Given the description of an element on the screen output the (x, y) to click on. 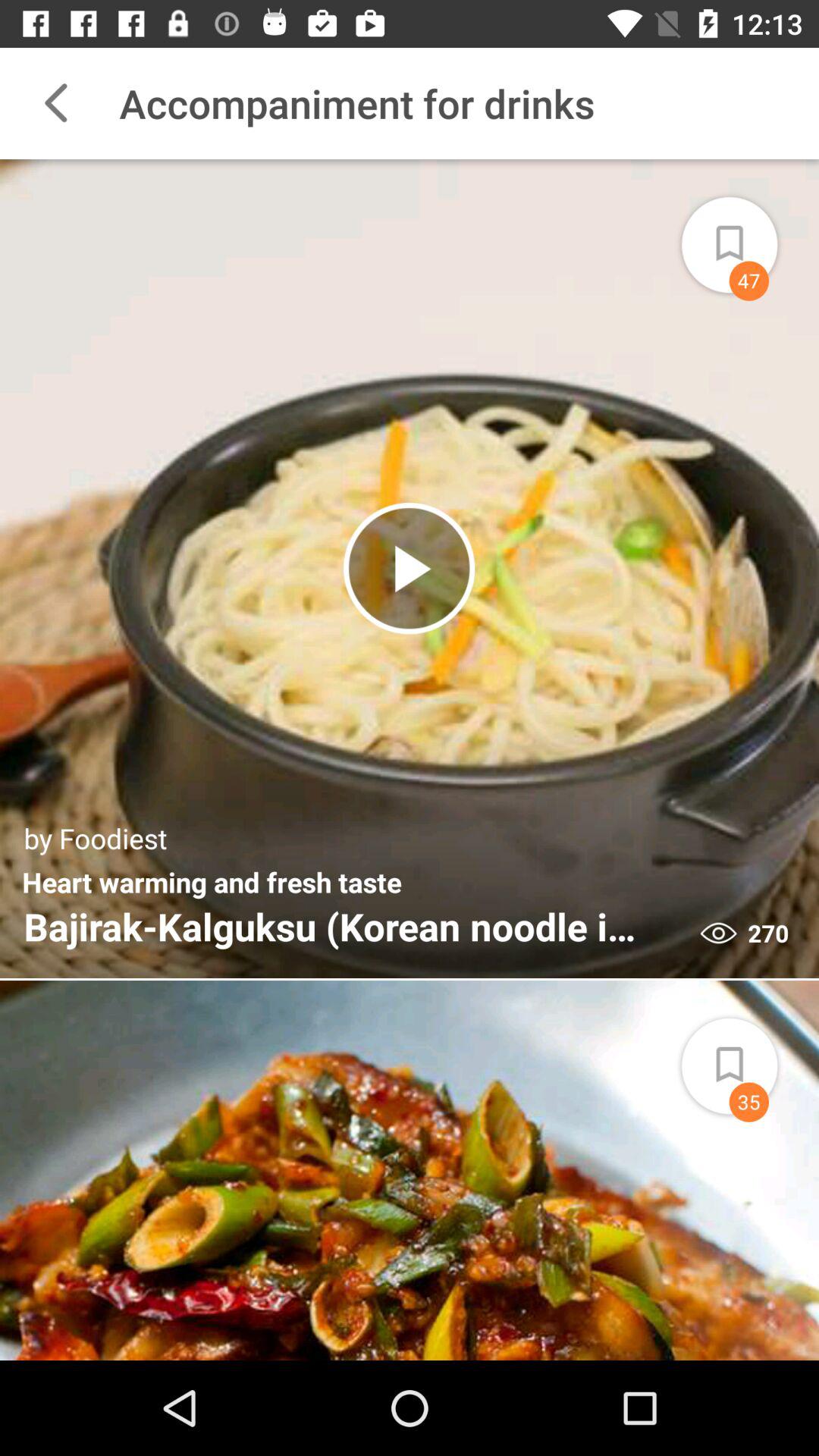
click icon at the top left corner (55, 103)
